Given the description of an element on the screen output the (x, y) to click on. 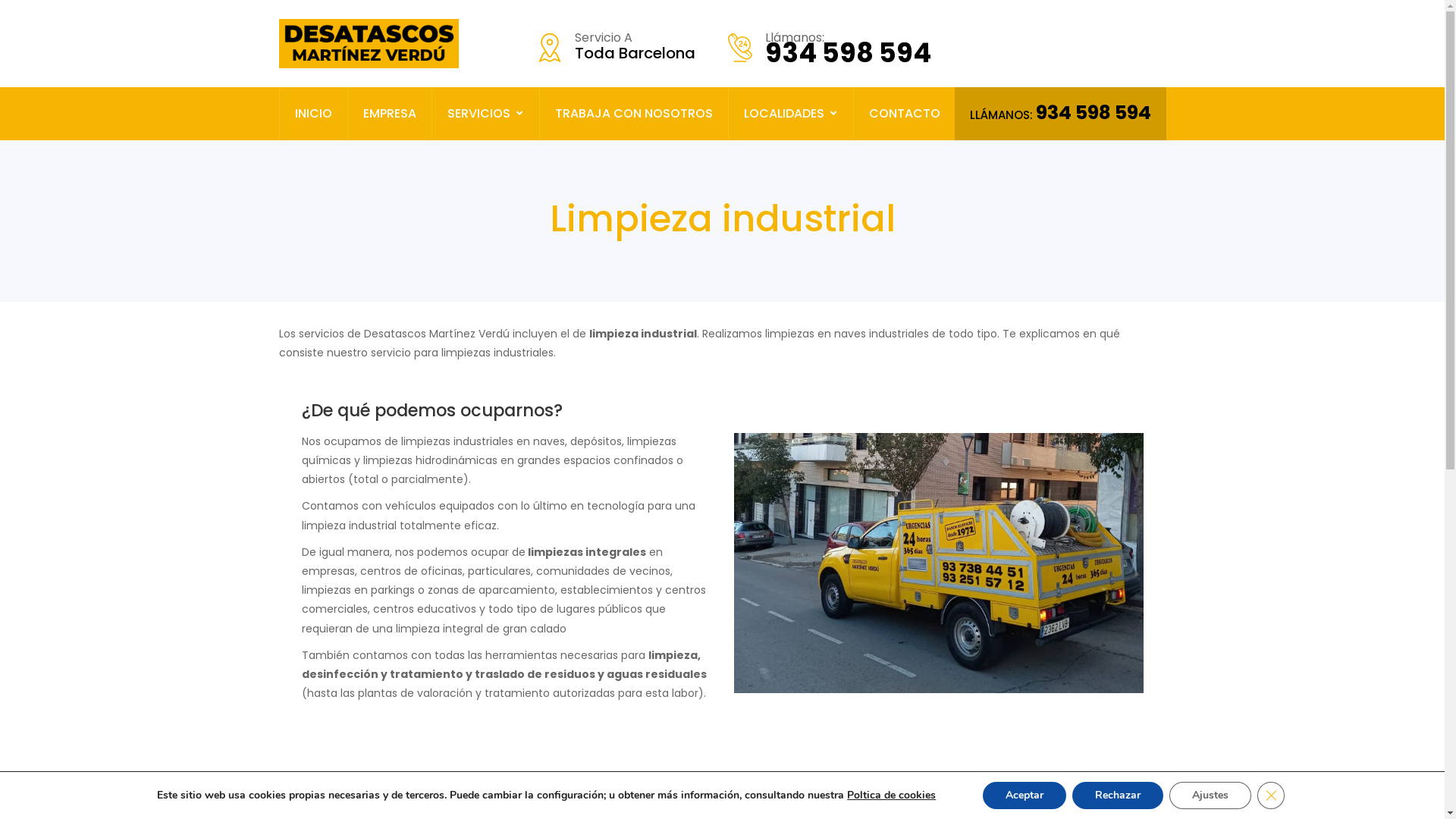
CONTACTO Element type: text (904, 113)
OTRAS Element type: text (990, 113)
Poltica de cookies Element type: text (891, 794)
Ajustes Element type: text (1210, 795)
INICIO Element type: text (312, 113)
Cerrar el banner de cookies RGPD Element type: text (1270, 795)
Rechazar Element type: text (1117, 795)
TRABAJA CON NOSOTROS Element type: text (633, 113)
LOCALIDADES Element type: text (790, 113)
Arctica Element type: hover (368, 43)
Aceptar Element type: text (1024, 795)
SERVICIOS Element type: text (485, 113)
EMPRESA Element type: text (388, 113)
